Given the description of an element on the screen output the (x, y) to click on. 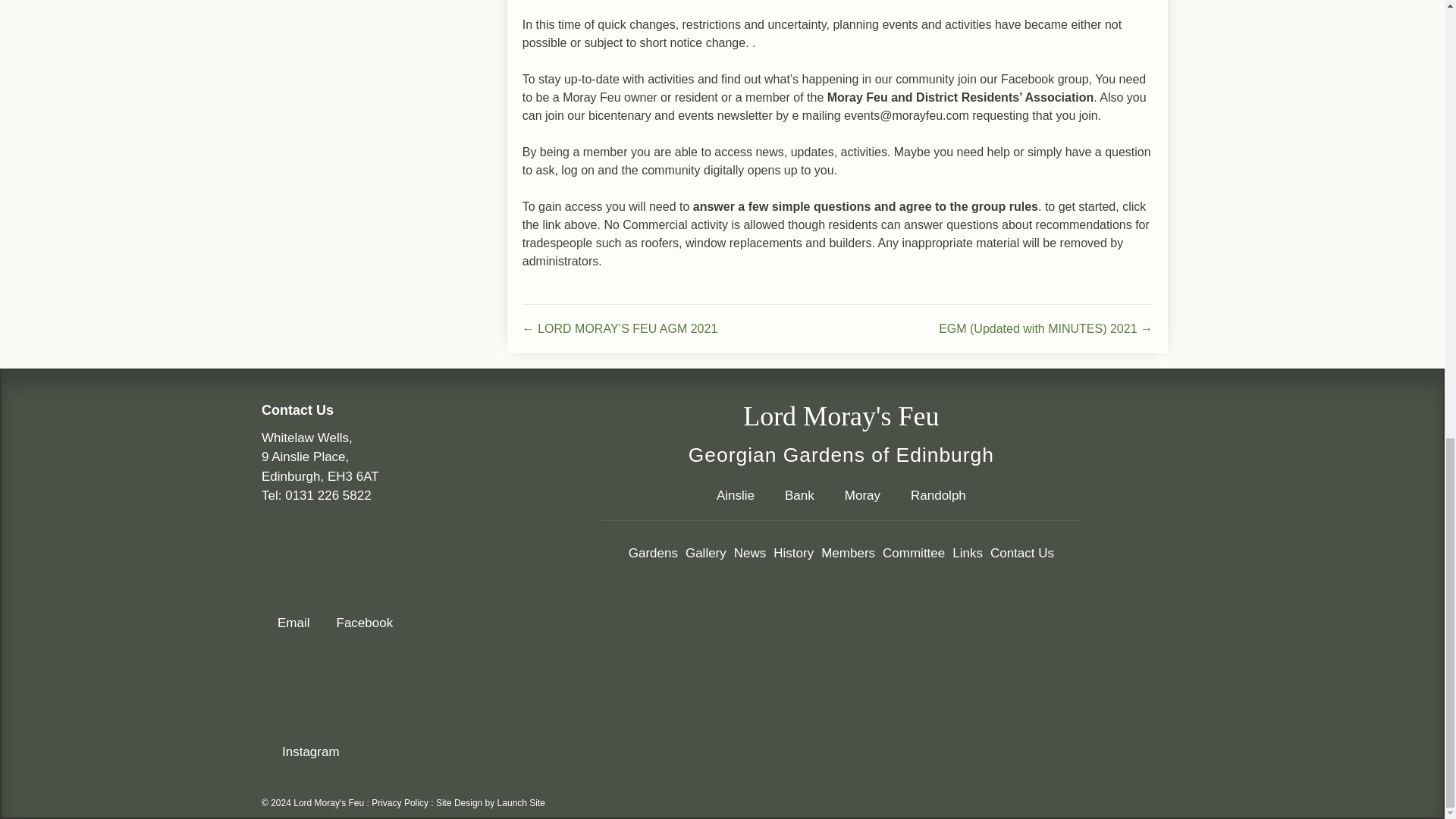
Scroll back to top (1406, 593)
